Given the description of an element on the screen output the (x, y) to click on. 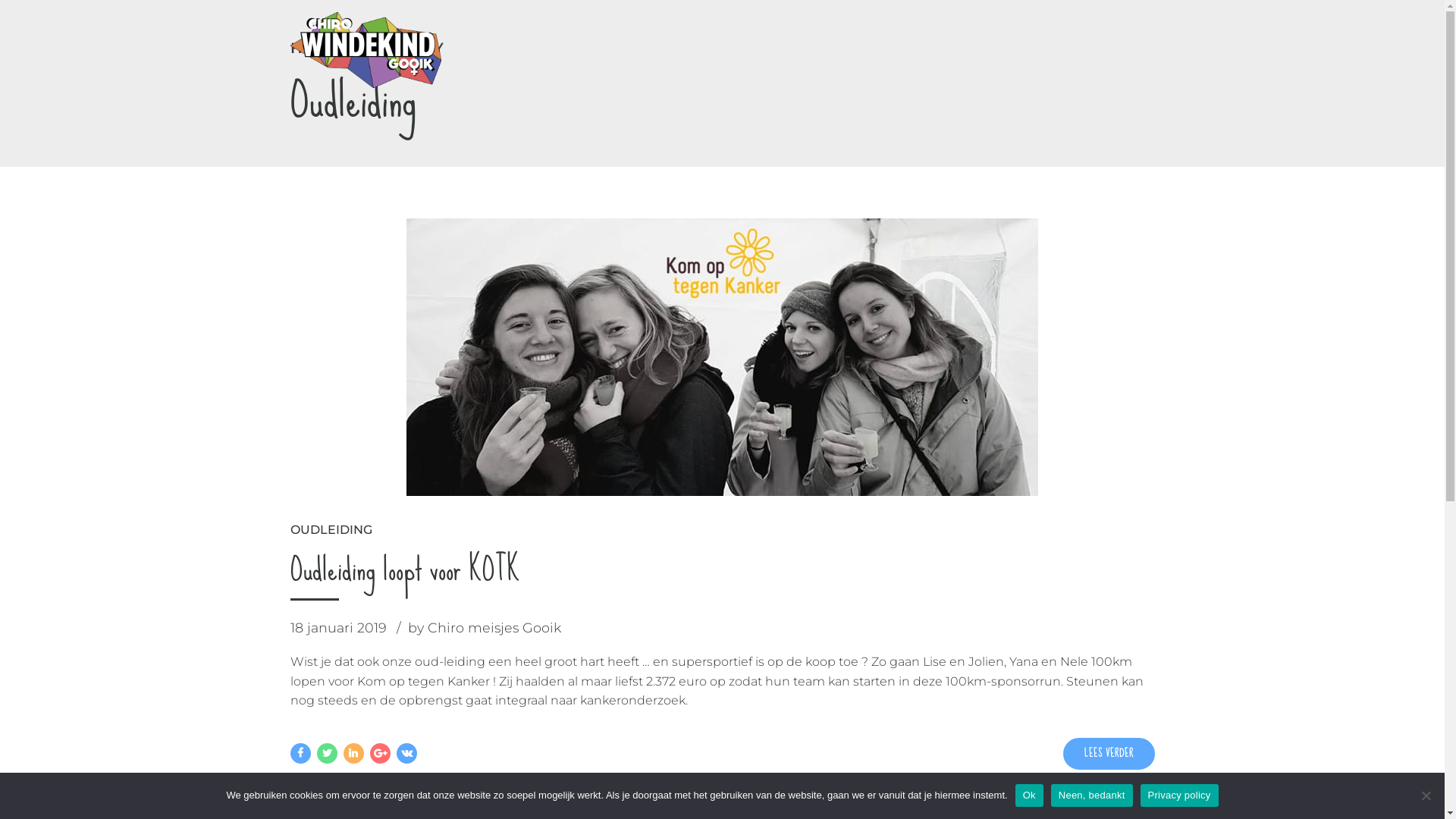
Neen, bedankt Element type: text (1091, 795)
by Chiro meisjes Gooik Element type: text (484, 627)
Neen, bedankt Element type: hover (1425, 795)
Ok Element type: text (1029, 795)
Oudleiding loopt voor KOTK Element type: text (404, 569)
OUDLEIDING Element type: text (330, 529)
LEES VERDER Element type: text (1108, 753)
HOME Element type: text (313, 47)
Privacy policy Element type: text (1179, 795)
